Given the description of an element on the screen output the (x, y) to click on. 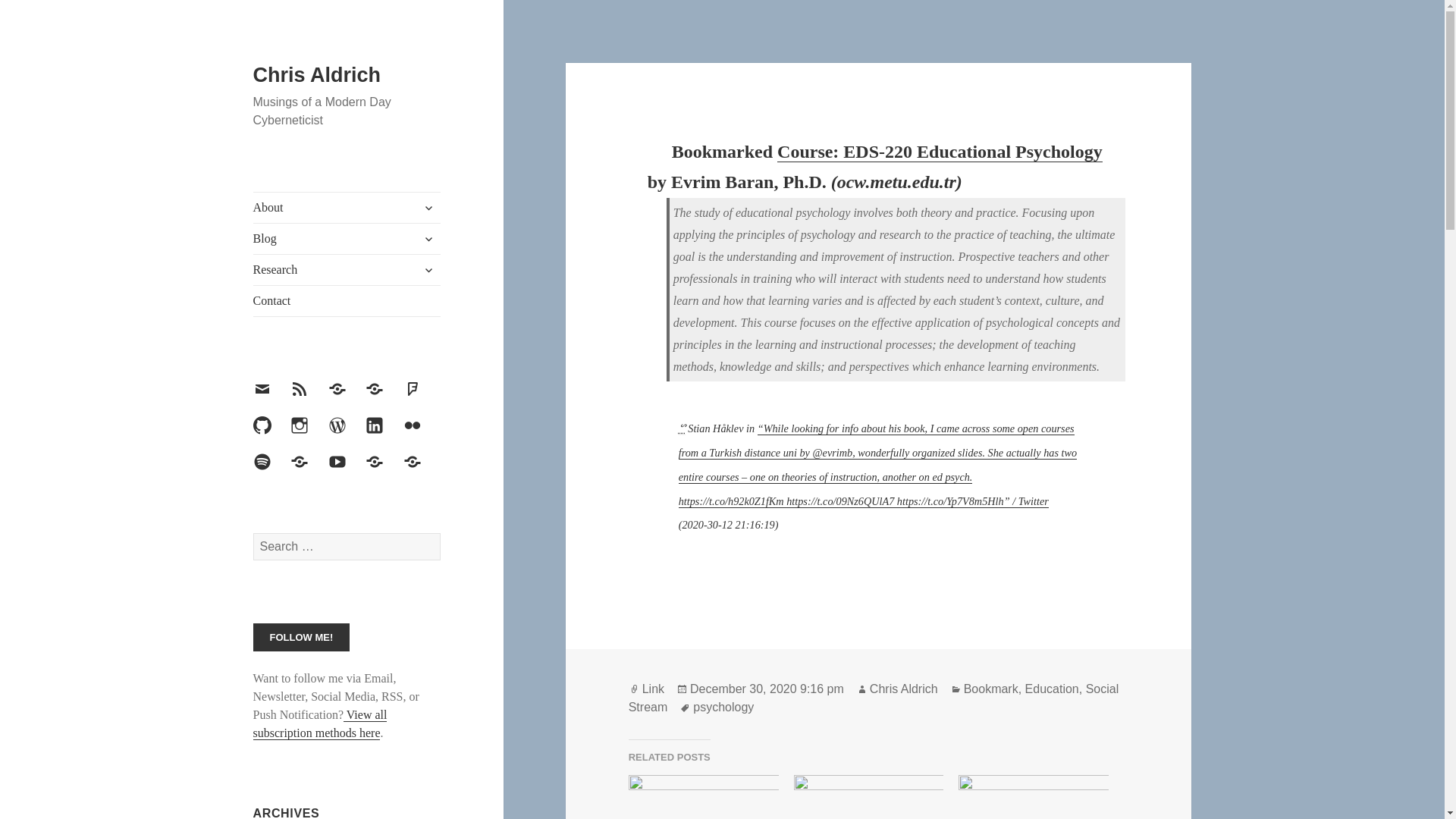
About (347, 207)
expand child menu (428, 207)
Blog (347, 238)
Chris Aldrich (317, 74)
Follow Me! (301, 637)
expand child menu (428, 238)
